Given the description of an element on the screen output the (x, y) to click on. 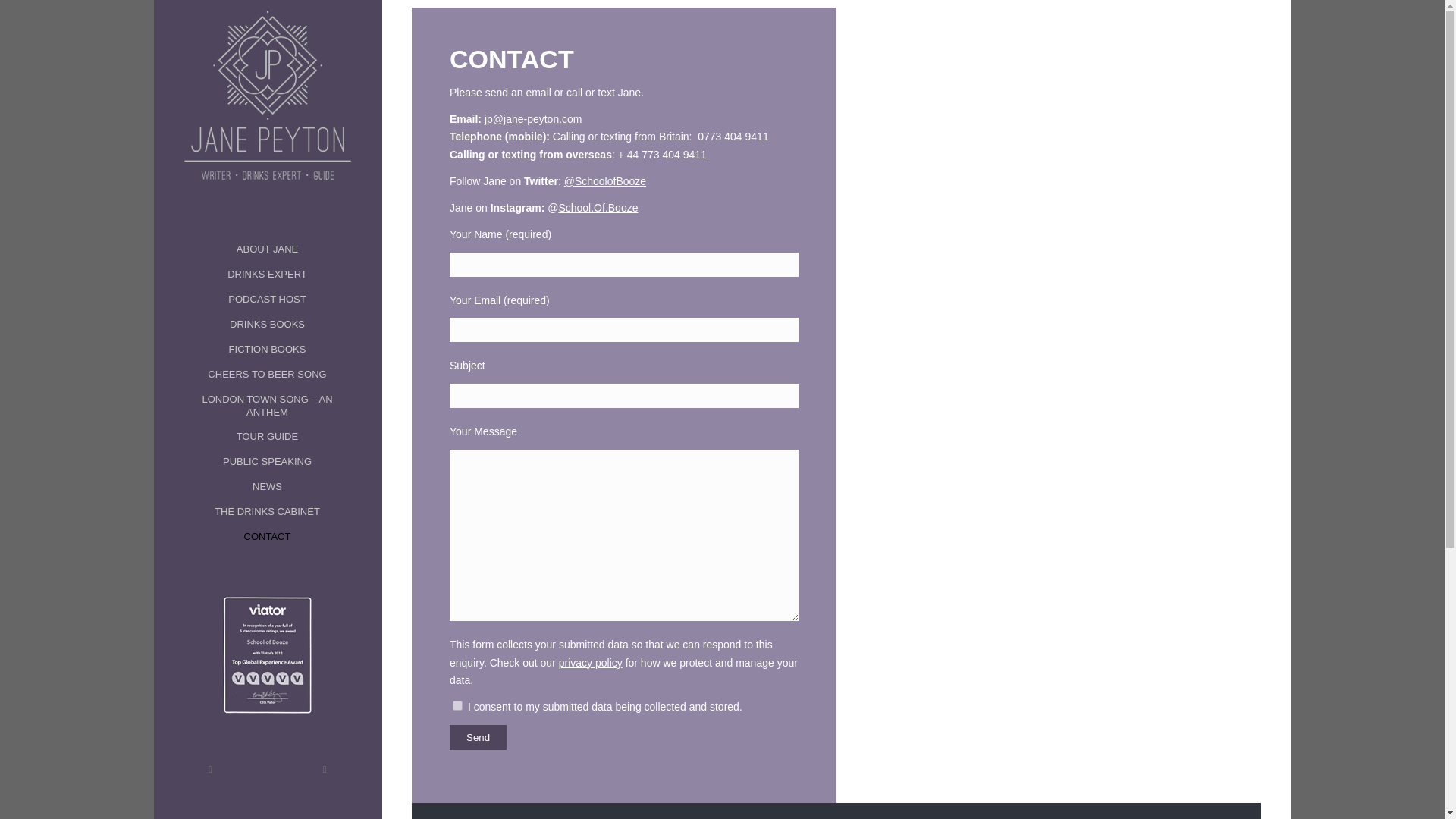
PUBLIC SPEAKING (267, 462)
ABOUT JANE (267, 249)
CHEERS TO BEER SONG (267, 374)
Send (477, 737)
TOUR GUIDE (267, 437)
Twitter (209, 769)
NEWS (267, 487)
PODCAST HOST (267, 299)
privacy policy (591, 662)
FICTION BOOKS (267, 349)
DRINKS EXPERT (267, 274)
Facebook (323, 769)
School.Of.Booze (597, 207)
CONTACT (267, 536)
DRINKS BOOKS (267, 324)
